Given the description of an element on the screen output the (x, y) to click on. 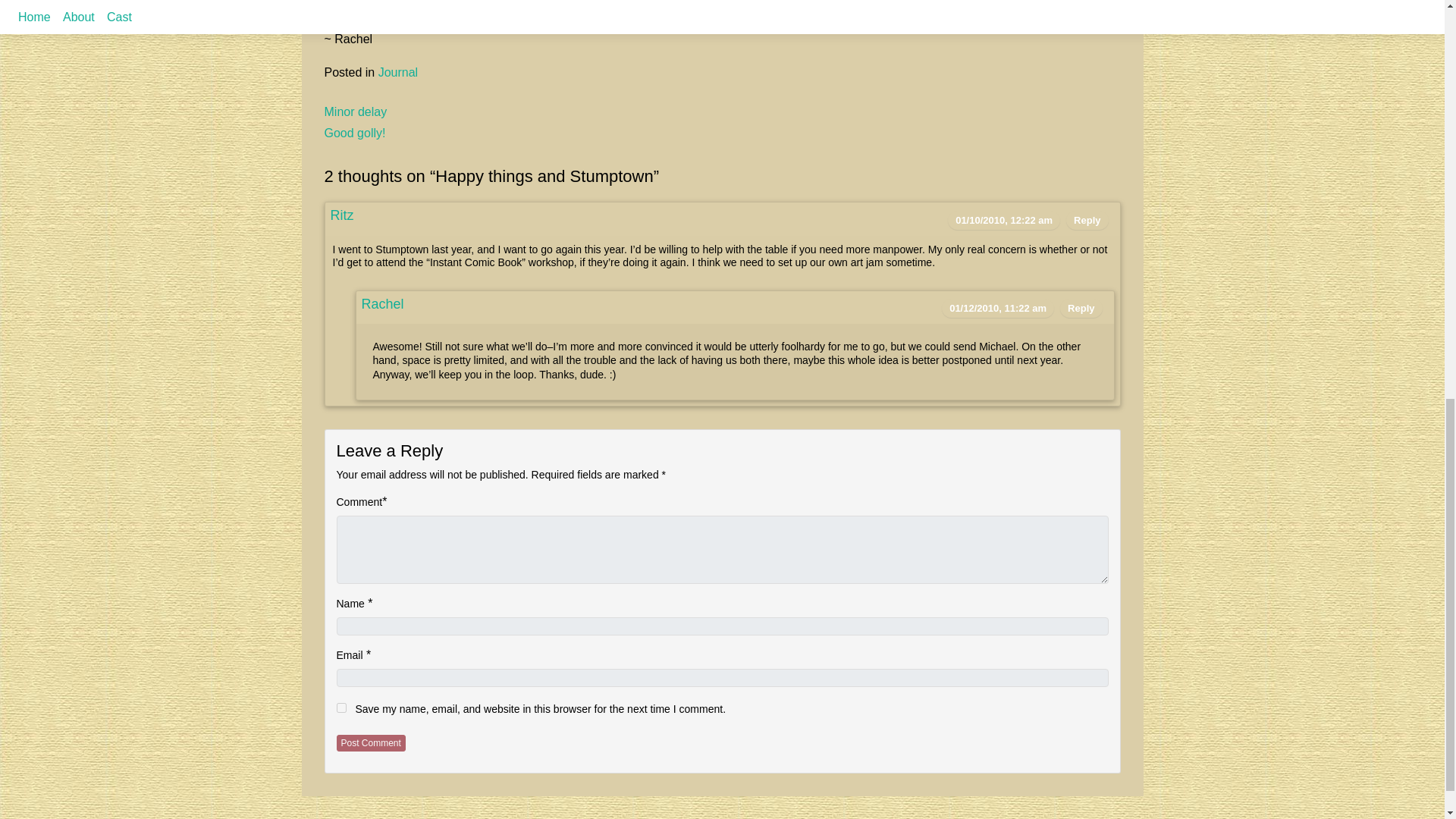
Reply (1080, 307)
Post Comment (371, 742)
Good golly! (354, 132)
Minor delay (355, 111)
Reply (1087, 220)
Journal (397, 72)
yes (341, 707)
Rachel (382, 304)
Ritz (341, 215)
Post Comment (371, 742)
